Given the description of an element on the screen output the (x, y) to click on. 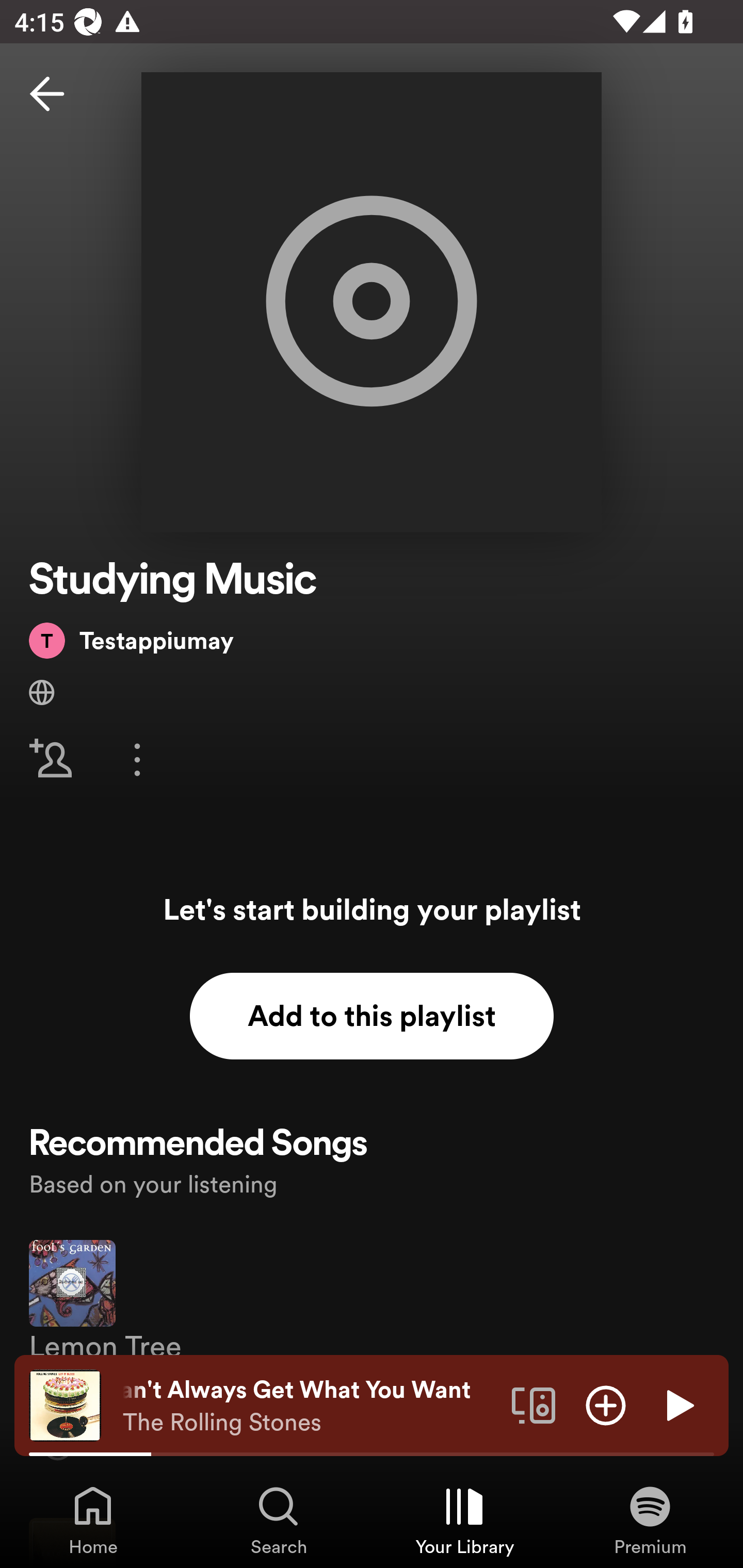
Back (46, 93)
Testappiumay (131, 640)
Invite Friends for playlist (50, 759)
More options for playlist Studying Music (136, 759)
Add to this playlist (371, 1015)
The cover art of the currently playing track (64, 1404)
Connect to a device. Opens the devices menu (533, 1404)
Add item (605, 1404)
Play (677, 1404)
Home, Tab 1 of 4 Home Home (92, 1519)
Search, Tab 2 of 4 Search Search (278, 1519)
Your Library, Tab 3 of 4 Your Library Your Library (464, 1519)
Premium, Tab 4 of 4 Premium Premium (650, 1519)
